Given the description of an element on the screen output the (x, y) to click on. 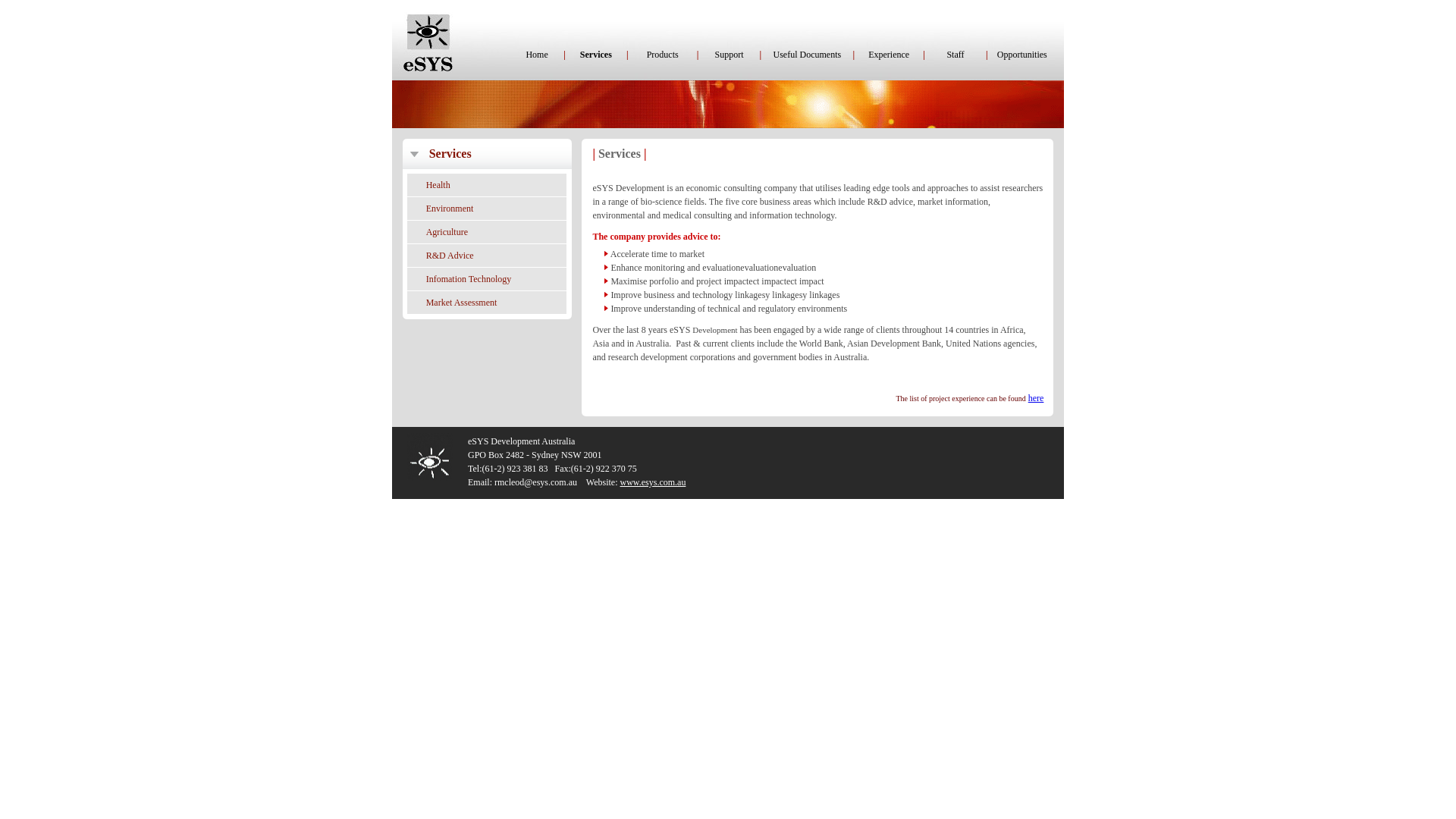
Products Element type: text (662, 54)
Support Element type: text (728, 54)
Services Element type: text (450, 154)
Services Element type: text (595, 54)
Market Assessment Element type: text (461, 302)
Useful Documents Element type: text (806, 54)
Environment Element type: text (449, 208)
Opportunities Element type: text (1022, 54)
Infomation Technology Element type: text (468, 278)
Agriculture Element type: text (446, 231)
Home Element type: text (536, 54)
Experience Element type: text (888, 54)
here Element type: text (1036, 397)
Health Element type: text (438, 184)
Staff Element type: text (954, 54)
R&D Advice Element type: text (449, 255)
